Given the description of an element on the screen output the (x, y) to click on. 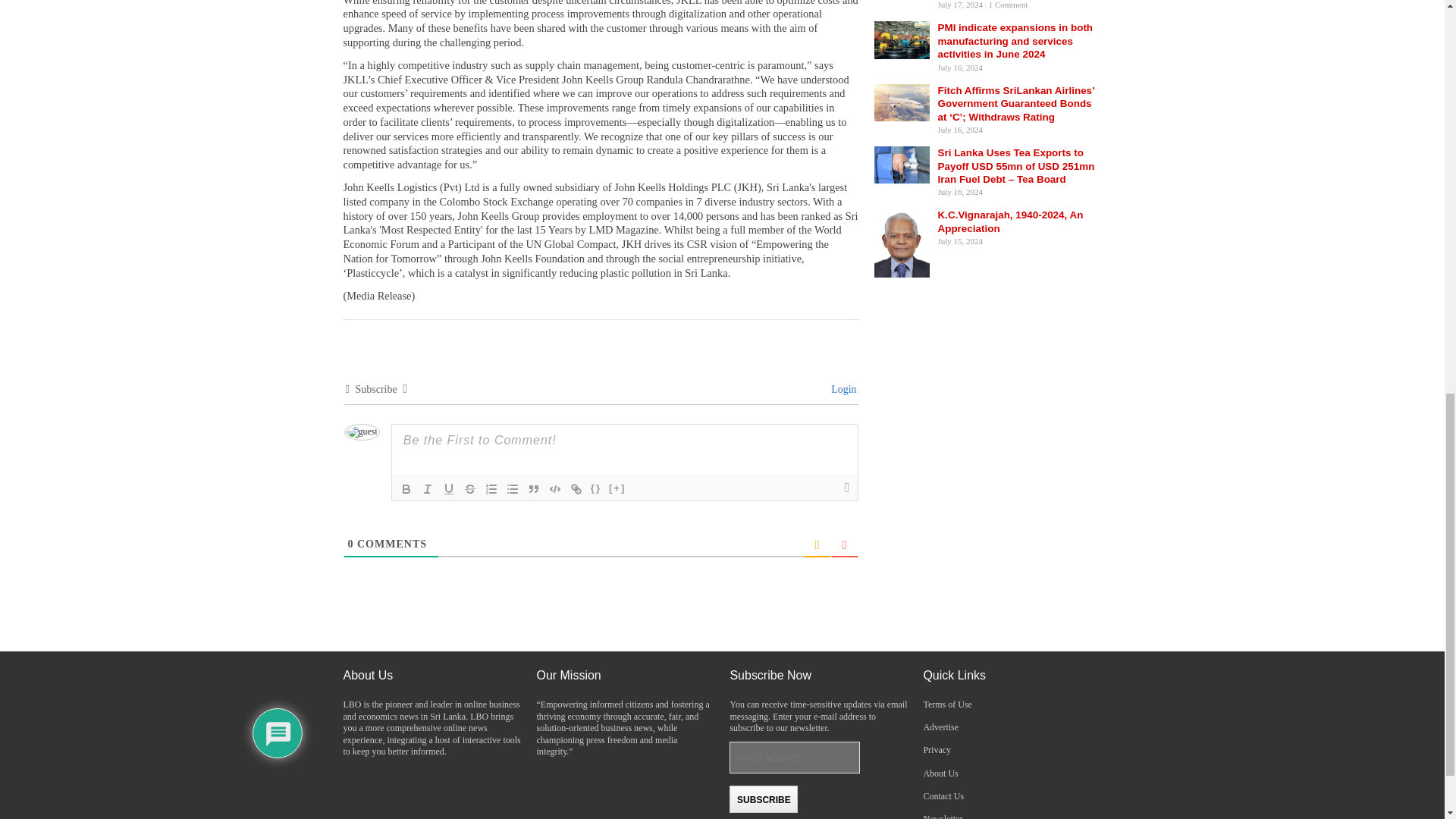
Italic (427, 488)
Link (576, 488)
Unordered List (512, 488)
Source Code (595, 488)
Subscribe (763, 799)
Strike (470, 488)
Ordered List (491, 488)
Bold (406, 488)
Underline (449, 488)
Blockquote (533, 488)
Code Block (555, 488)
